Given the description of an element on the screen output the (x, y) to click on. 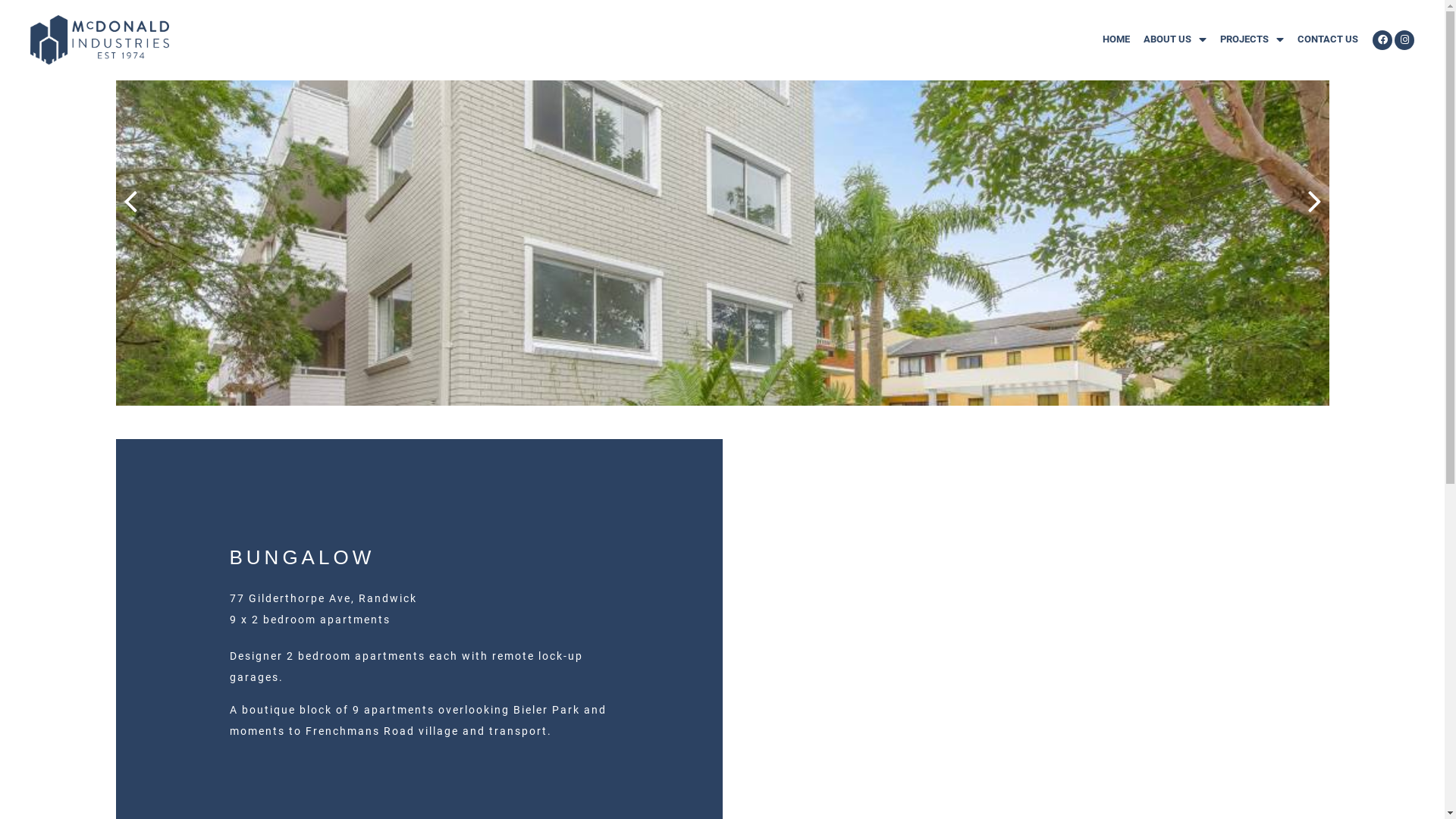
HOME Element type: text (1115, 39)
PROJECTS Element type: text (1251, 39)
CONTACT US Element type: text (1327, 39)
ABOUT US Element type: text (1174, 39)
